Given the description of an element on the screen output the (x, y) to click on. 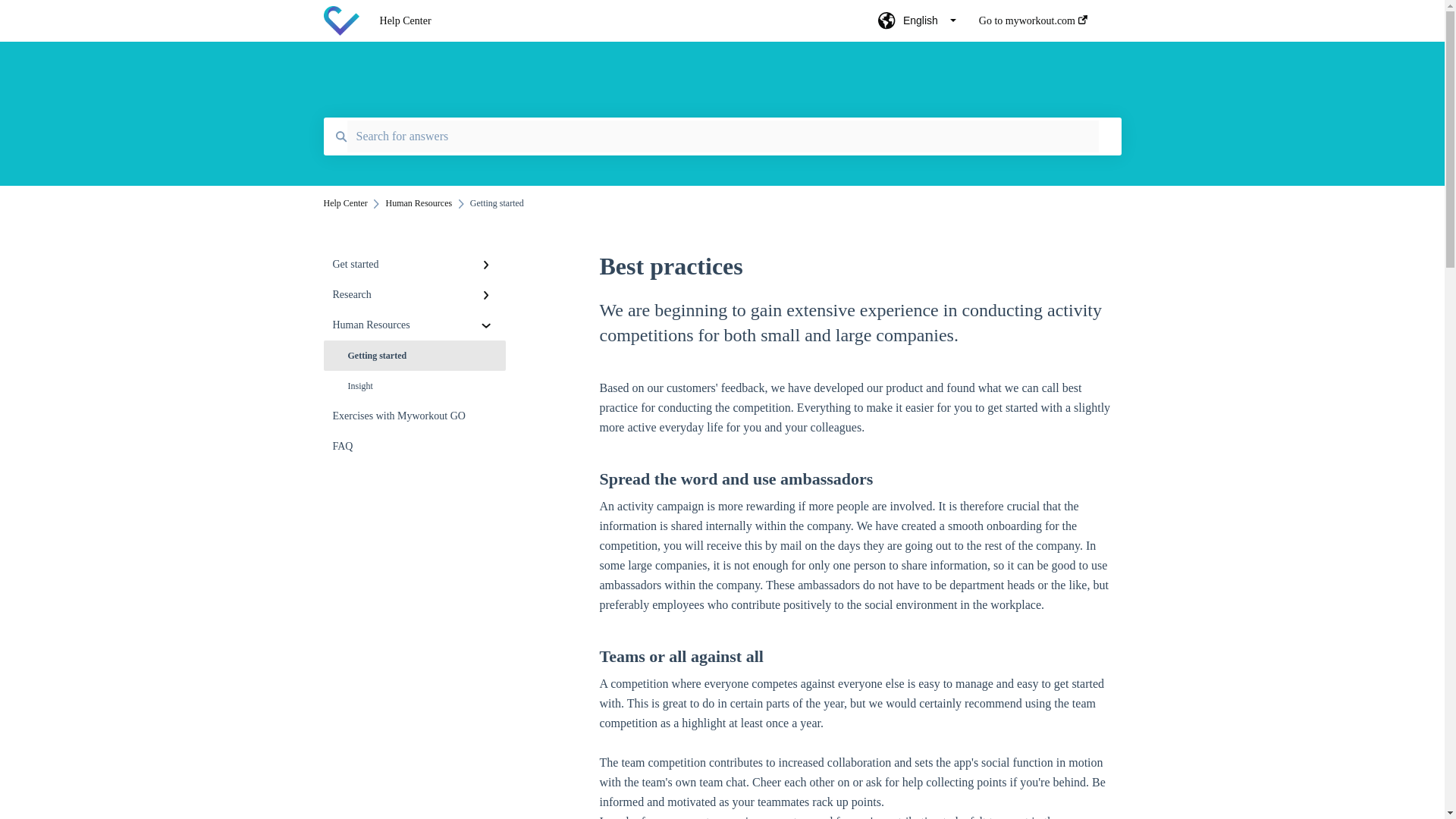
Go to myworkout.com (1032, 25)
Research (414, 295)
Human Resources (414, 325)
Help Center (606, 21)
English (916, 25)
Help Center (344, 203)
Human Resources (418, 203)
Get started (414, 264)
